Given the description of an element on the screen output the (x, y) to click on. 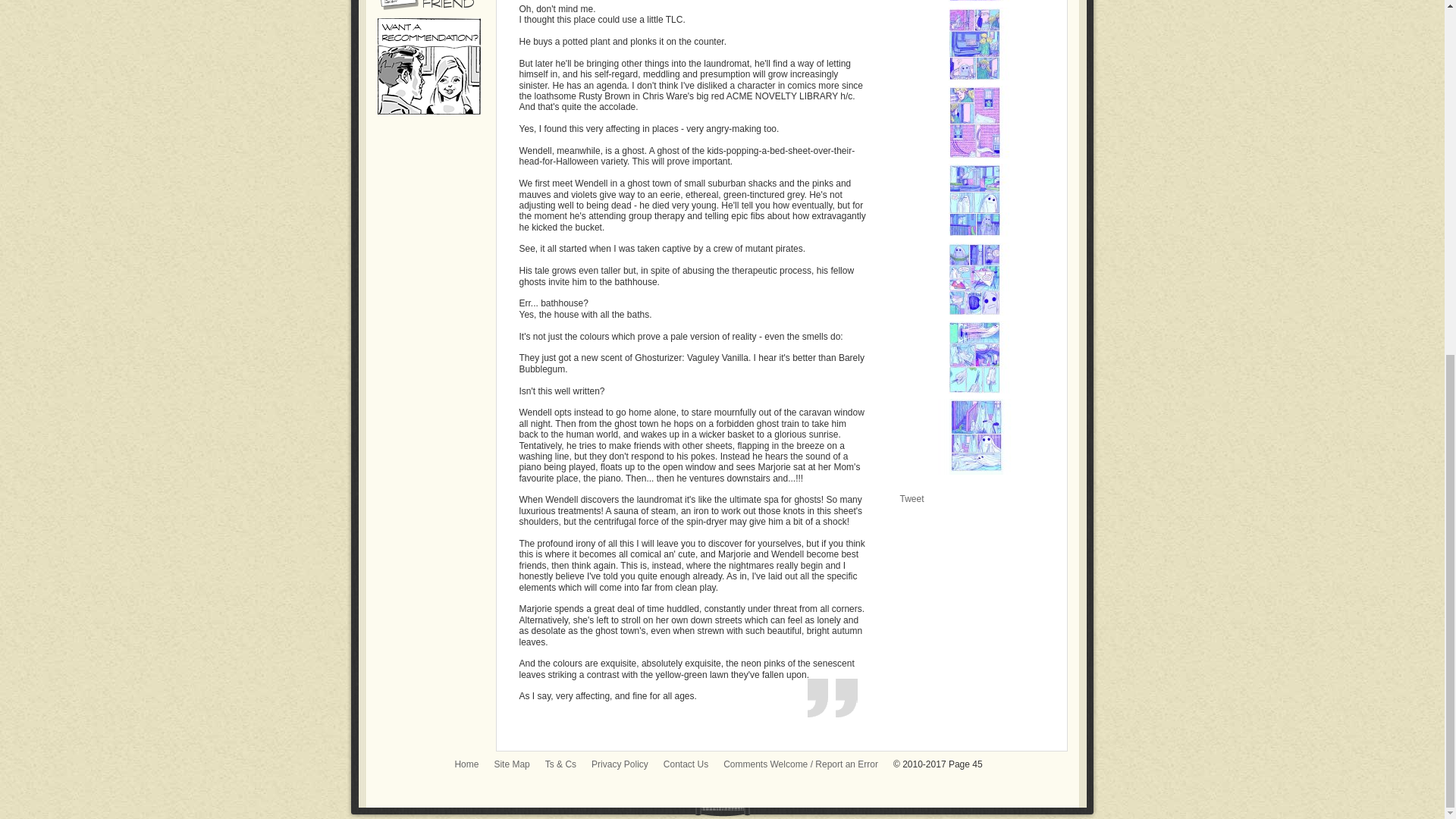
Tweet (911, 498)
Ask Page 45 for a recommendation (428, 111)
